Given the description of an element on the screen output the (x, y) to click on. 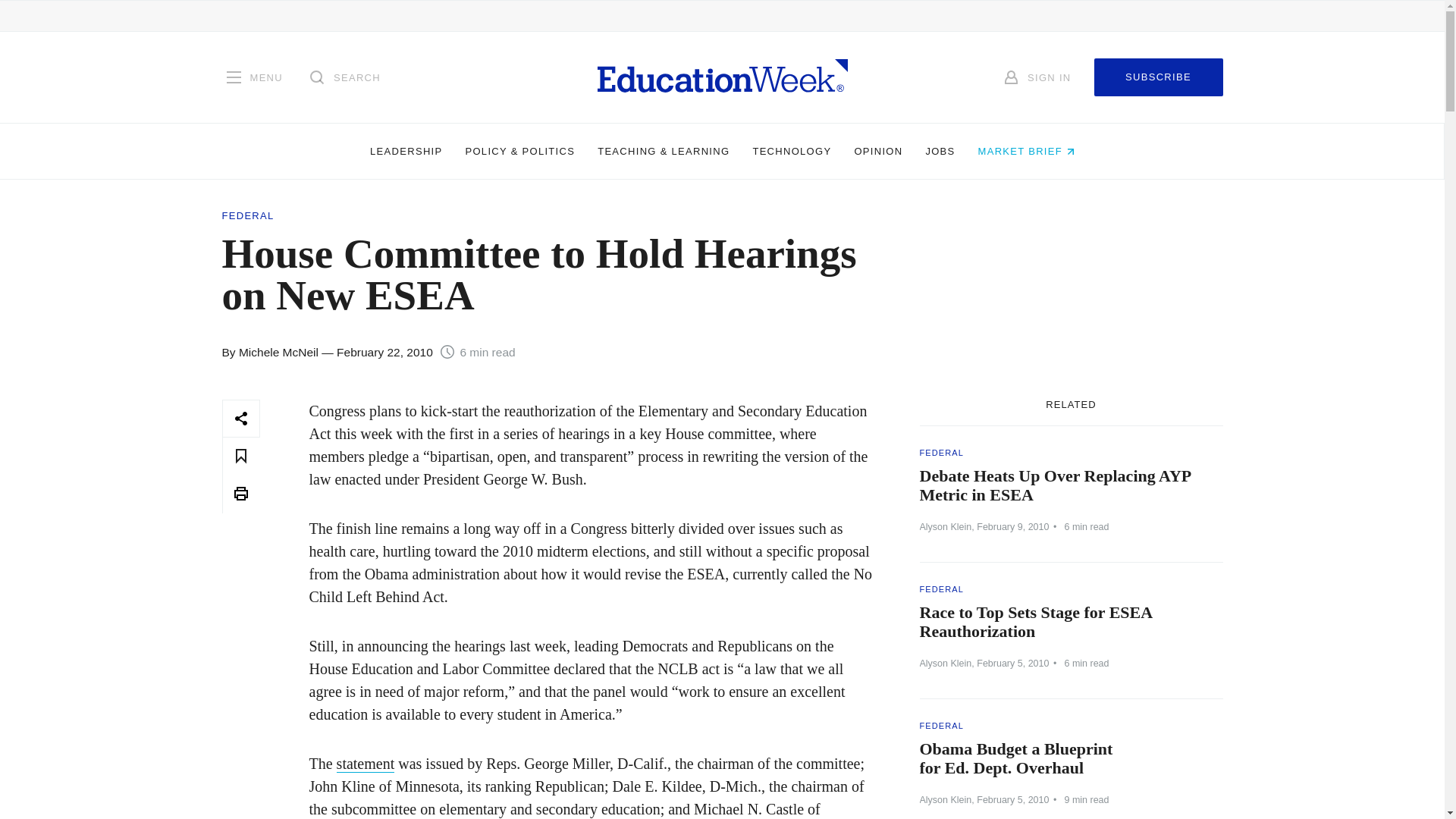
Homepage (721, 76)
